Given the description of an element on the screen output the (x, y) to click on. 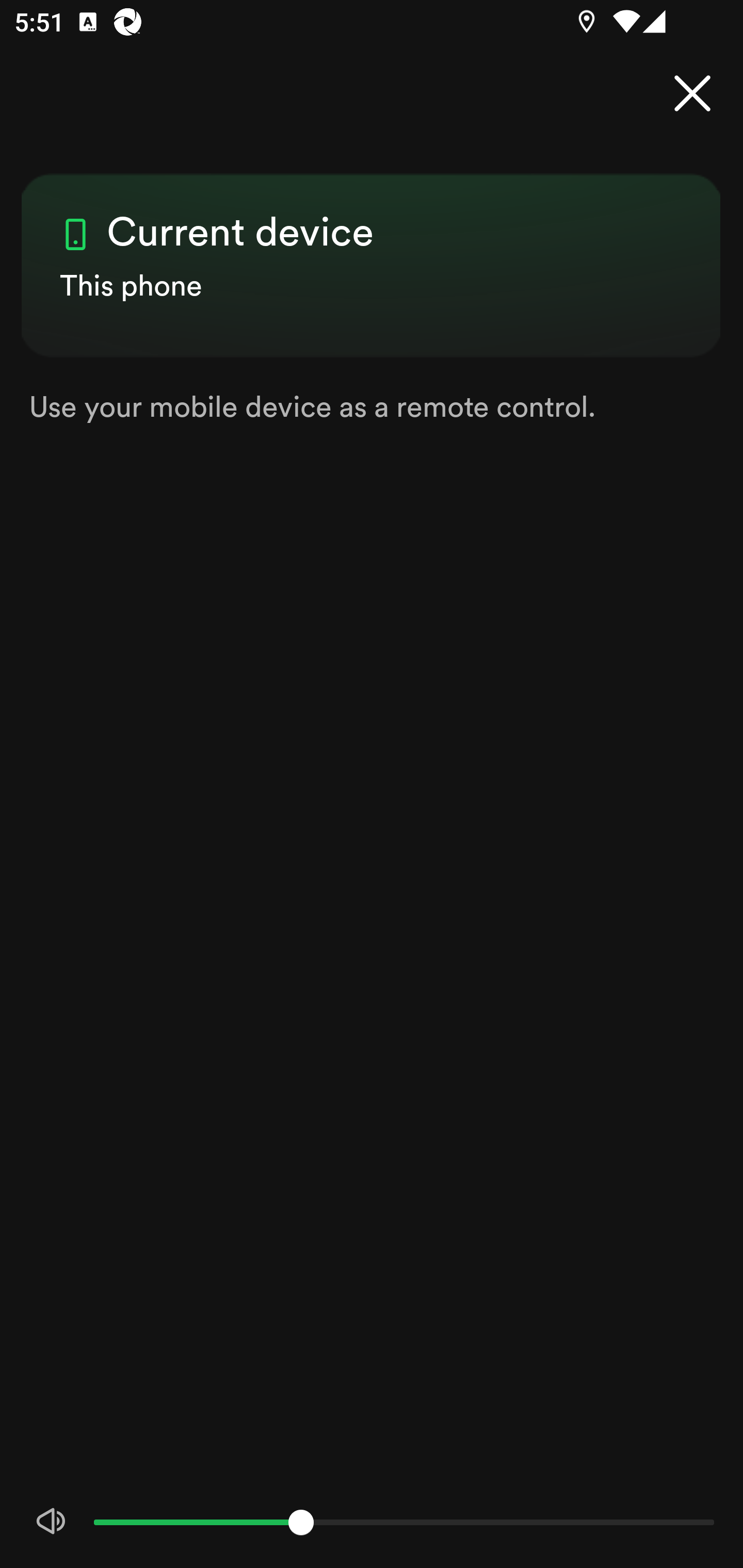
Close (692, 93)
Current device This phone (371, 247)
